Given the description of an element on the screen output the (x, y) to click on. 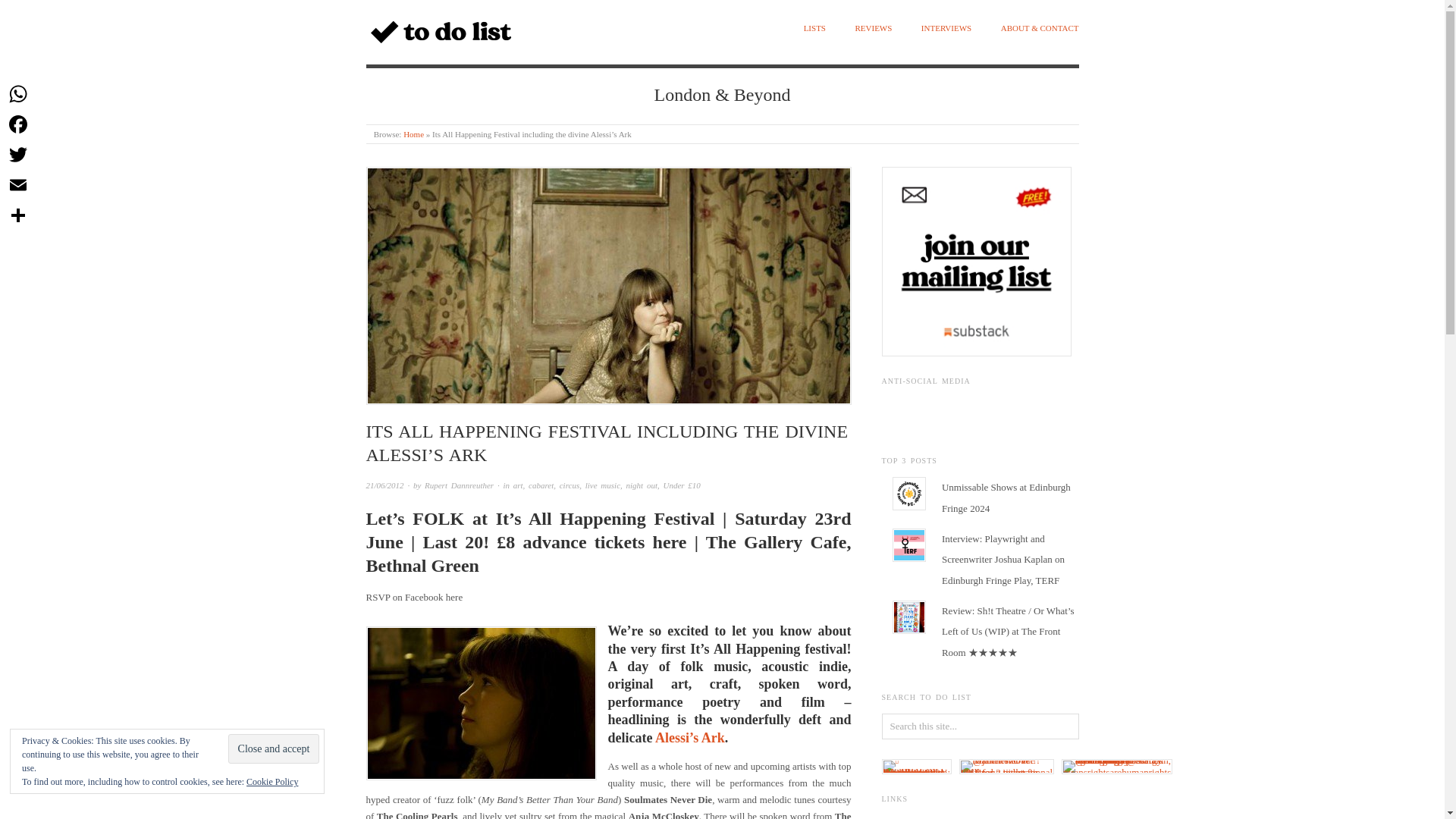
REVIEWS (872, 28)
TO DO LIST (422, 75)
circus (569, 484)
To Do List (413, 133)
Posts by Rupert Dannreuther (459, 484)
live music (602, 484)
Home (413, 133)
INTERVIEWS (946, 28)
Search this site... (979, 726)
